Given the description of an element on the screen output the (x, y) to click on. 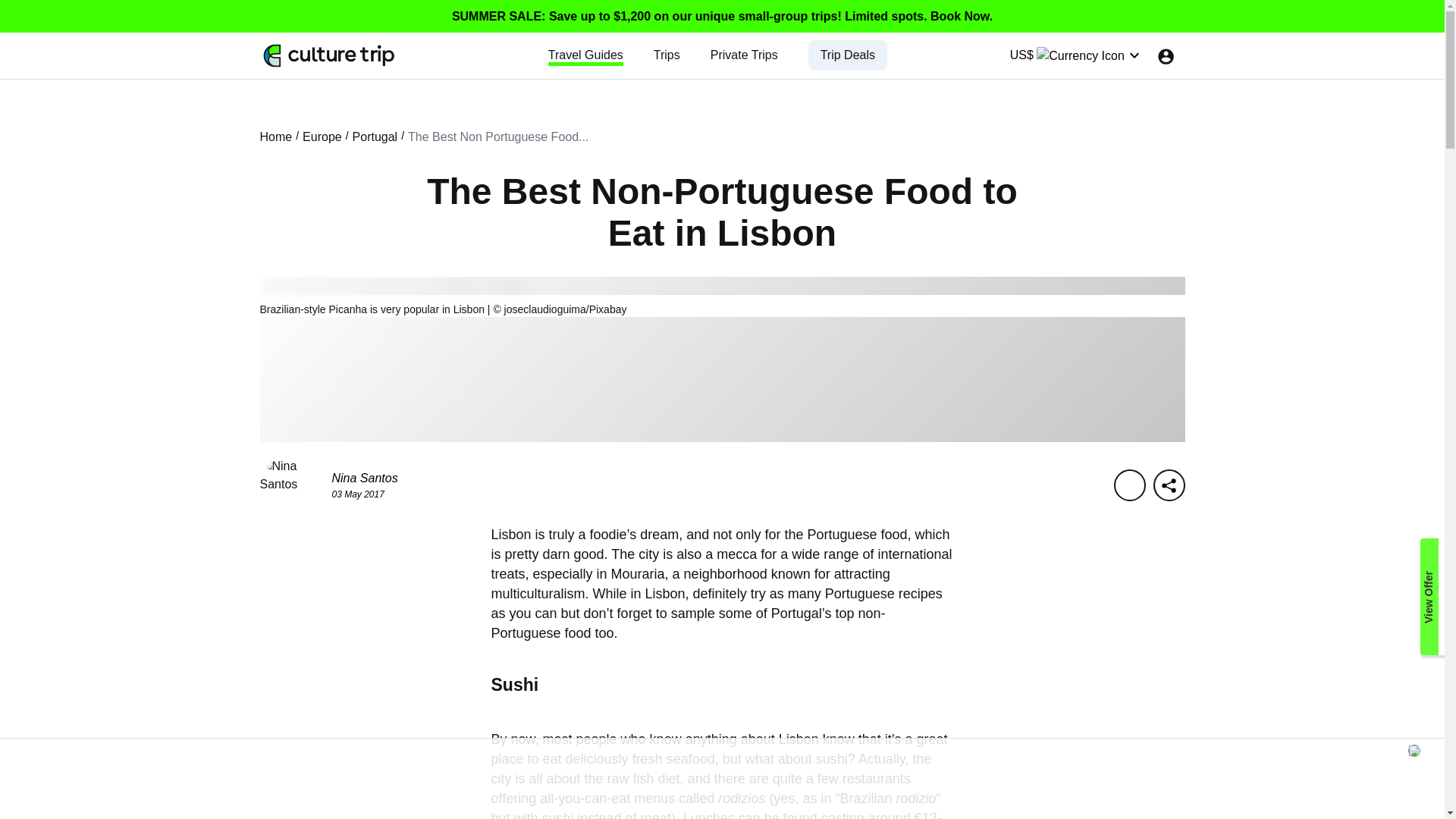
Trips (666, 54)
The Best Non Portuguese Food... (497, 136)
Travel Guides (585, 54)
Travel Guides (585, 54)
Europe (322, 136)
Trips (666, 54)
03 May 2017 (357, 494)
Private Trips (743, 54)
Home (275, 136)
Trip Deals (848, 54)
